Given the description of an element on the screen output the (x, y) to click on. 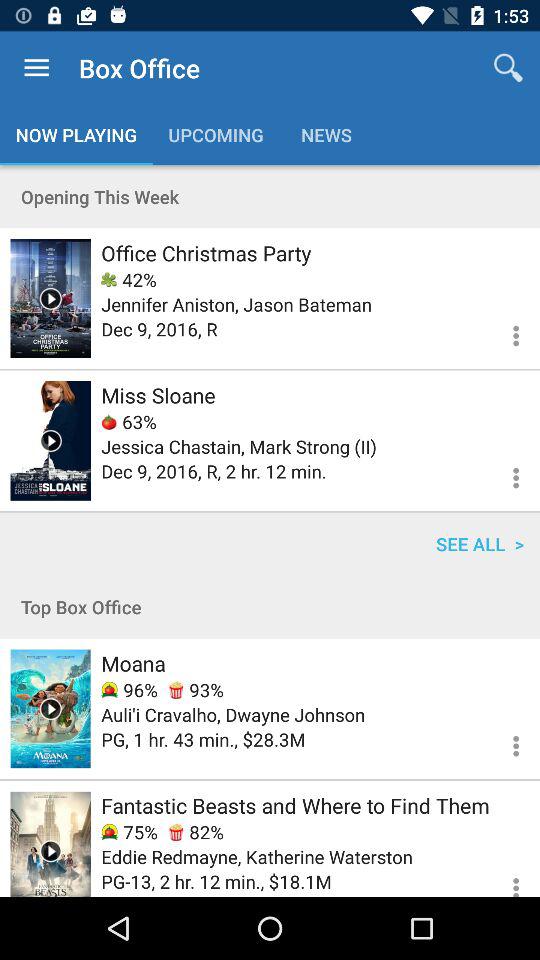
press icon above the jennifer aniston jason item (128, 279)
